Given the description of an element on the screen output the (x, y) to click on. 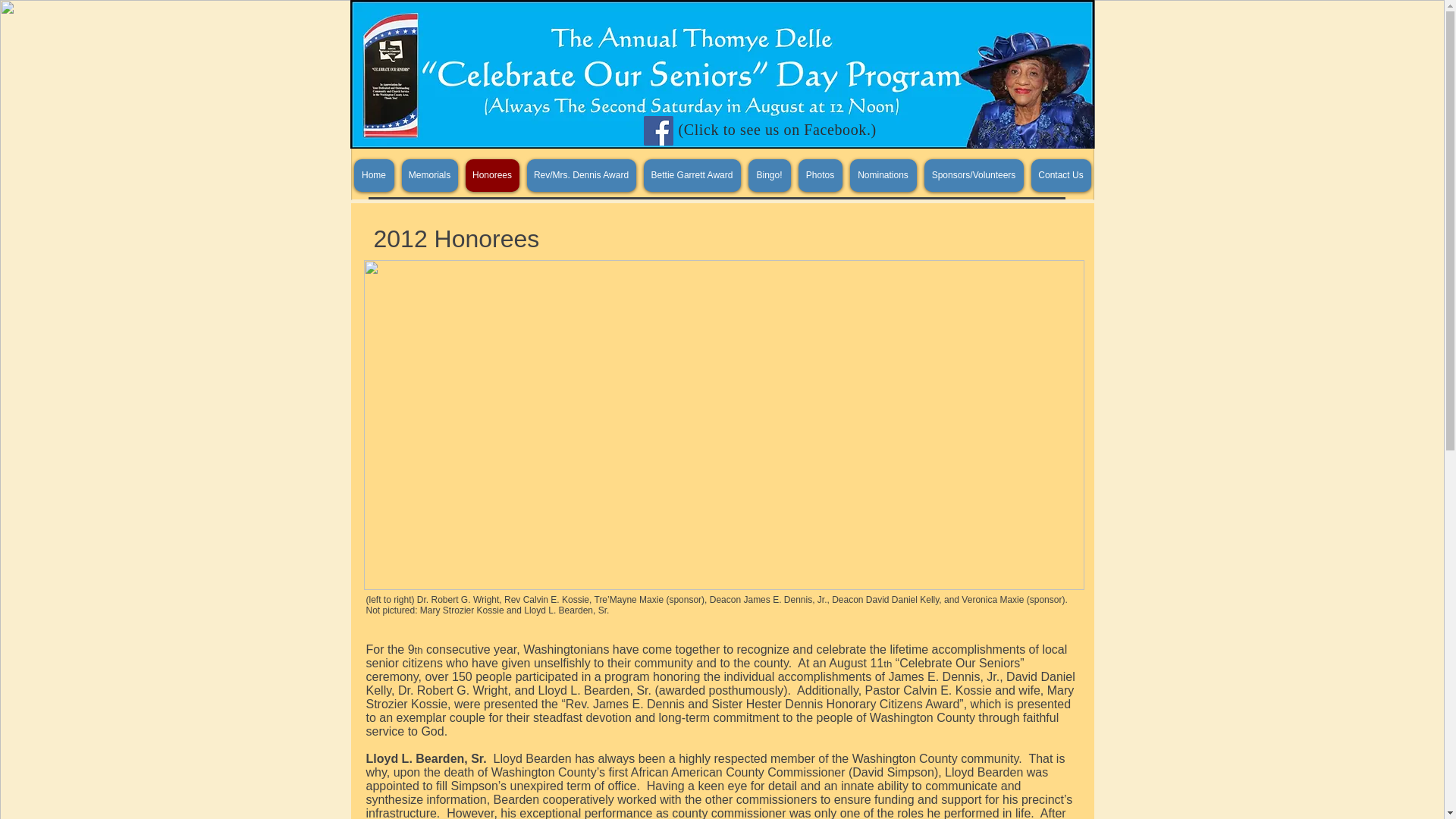
Honorees (492, 174)
Bingo! (769, 174)
Photos (819, 174)
Home (373, 174)
Bettie Garrett Award (691, 174)
